Given the description of an element on the screen output the (x, y) to click on. 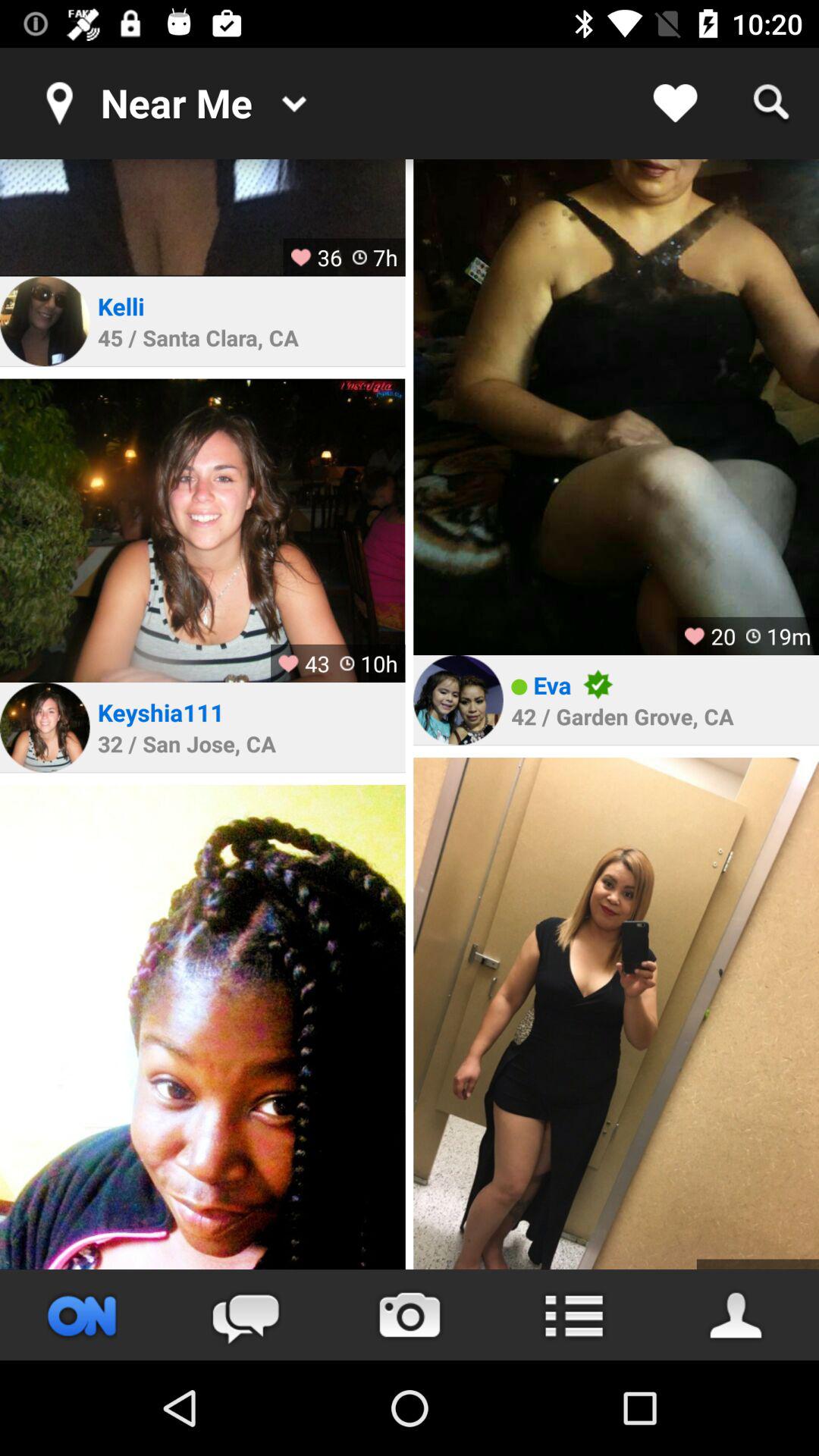
choose the kelli (123, 306)
